Given the description of an element on the screen output the (x, y) to click on. 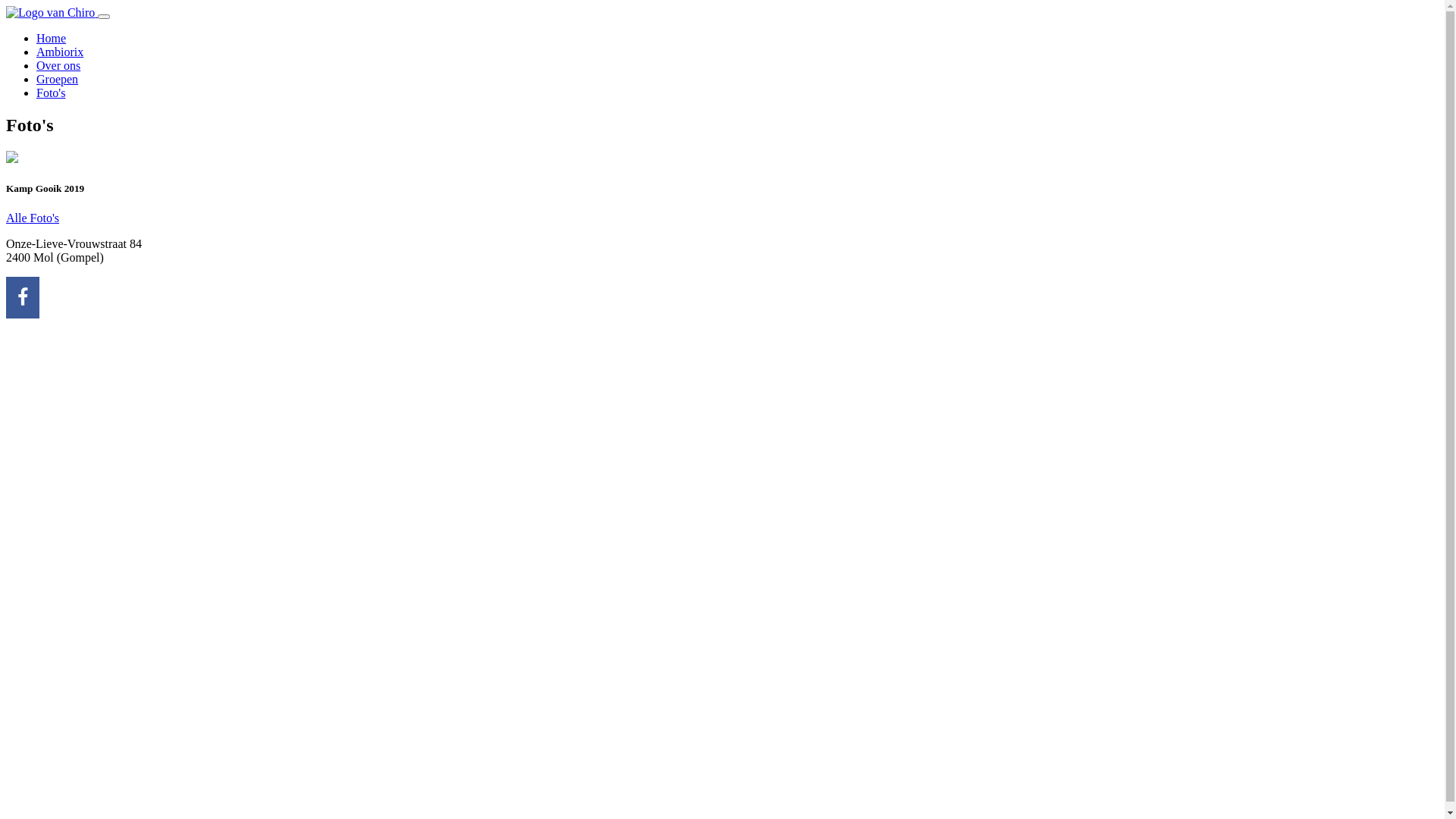
Groepen Element type: text (57, 78)
Home Element type: text (50, 37)
Alle Foto's Element type: text (32, 217)
Foto's
(current) Element type: text (50, 92)
Ambiorix Element type: text (59, 51)
Over ons Element type: text (58, 65)
